Given the description of an element on the screen output the (x, y) to click on. 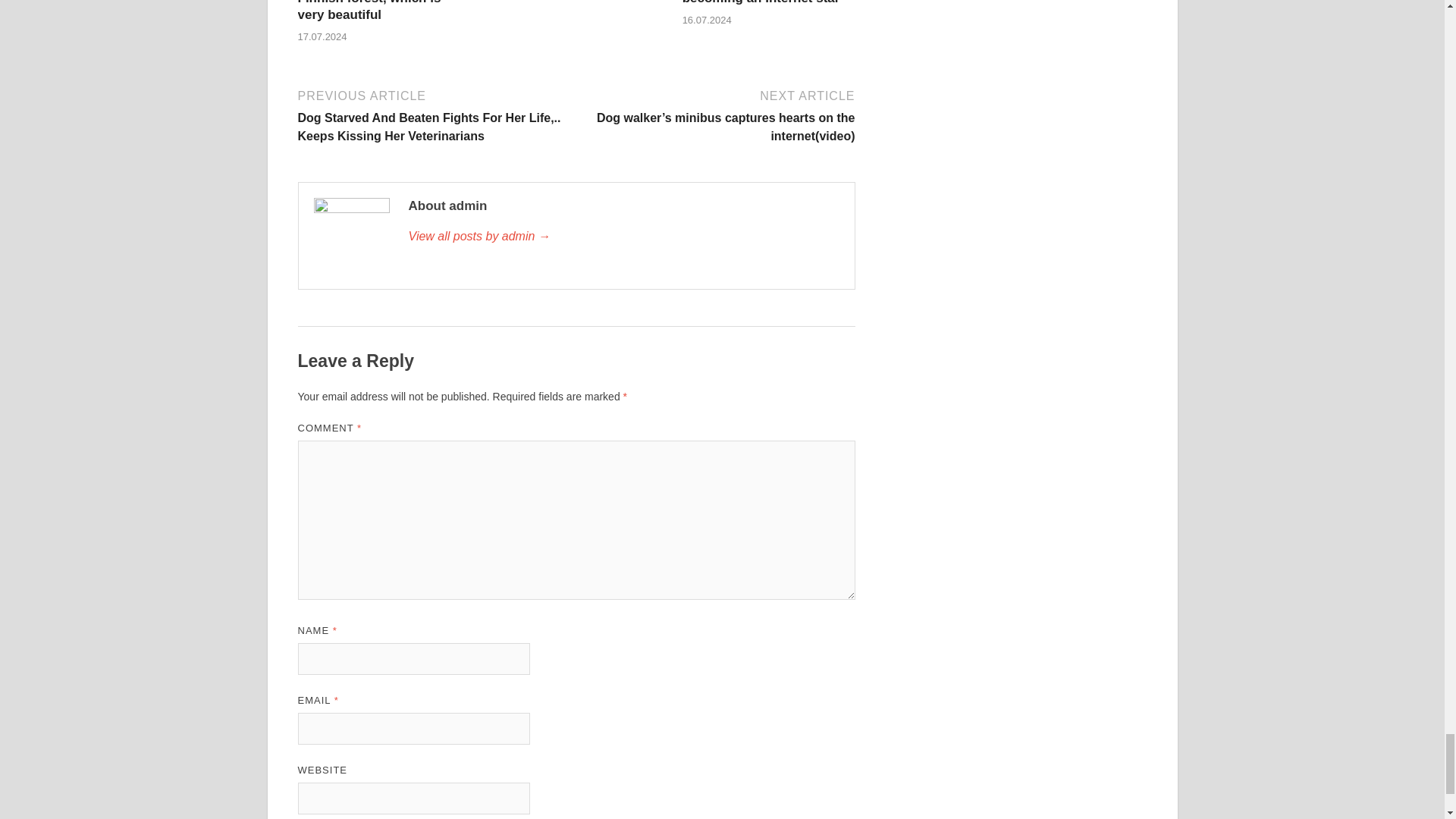
admin (622, 236)
